Given the description of an element on the screen output the (x, y) to click on. 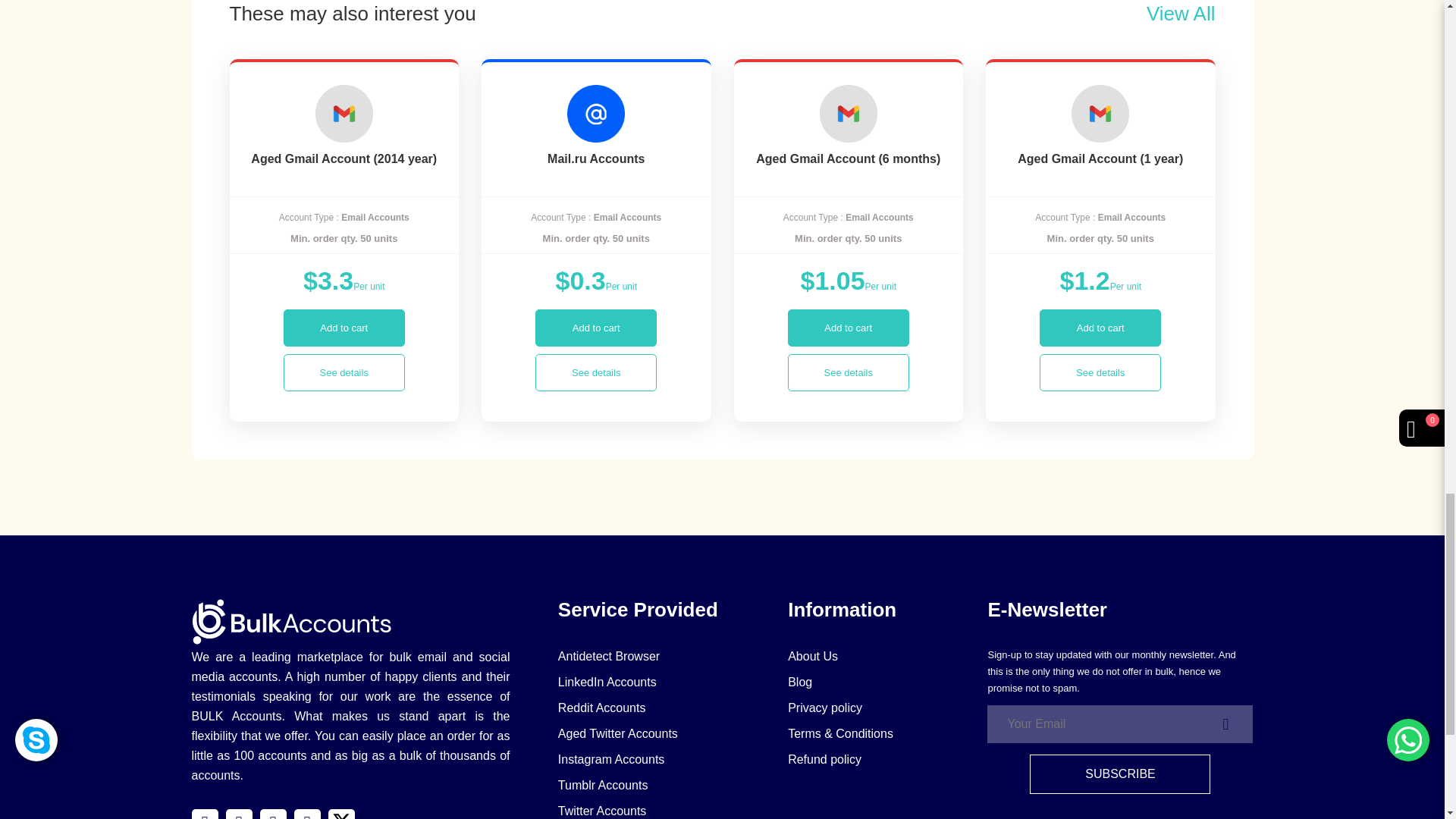
Add to cart (847, 327)
See details (343, 372)
Subscribe (1119, 773)
Add to cart (343, 327)
View All (1181, 13)
See details (847, 372)
Add to cart (595, 327)
See details (595, 372)
Add to cart (1099, 327)
